Given the description of an element on the screen output the (x, y) to click on. 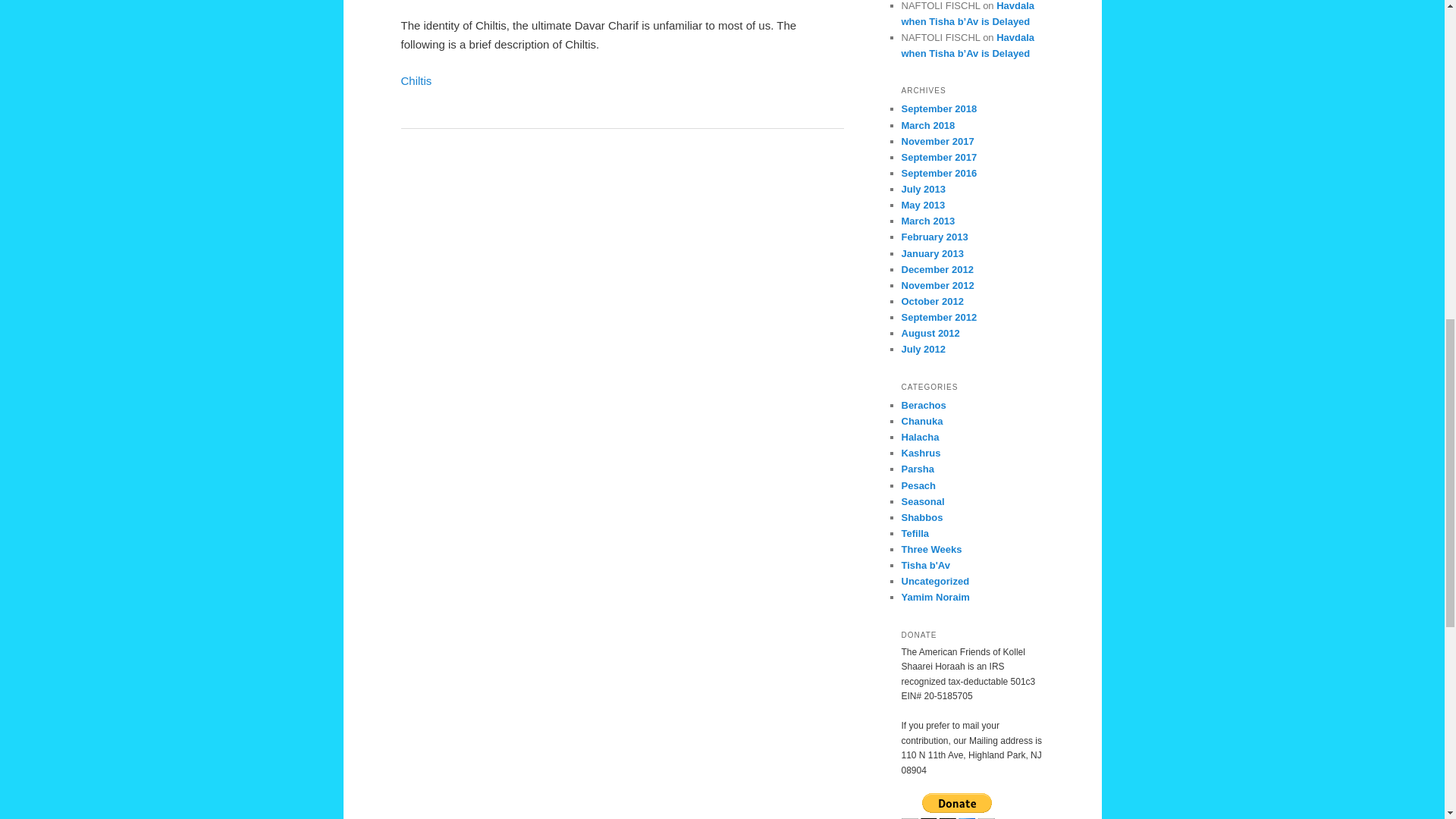
Chiltis (415, 80)
